Given the description of an element on the screen output the (x, y) to click on. 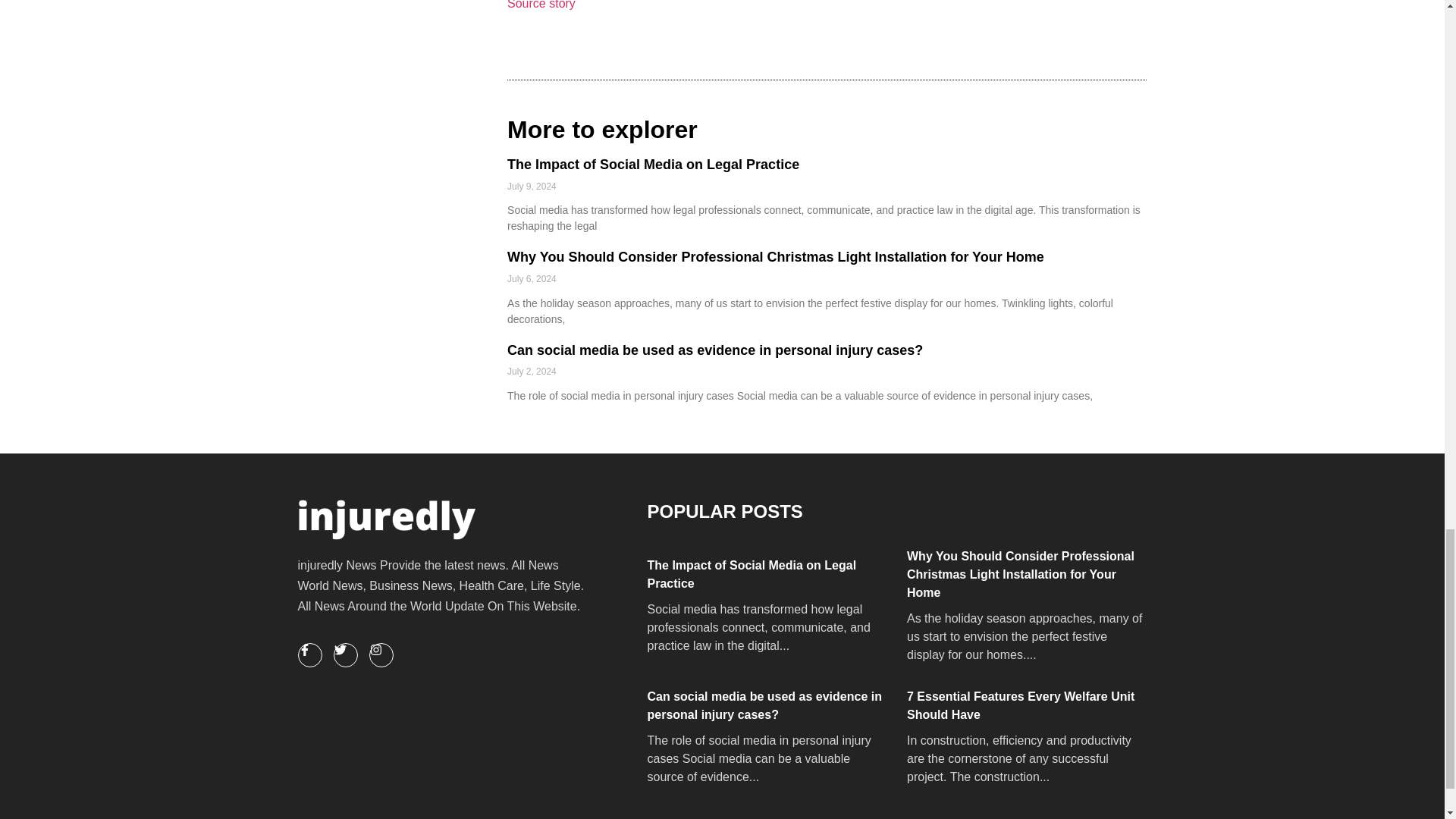
7 Essential Features Every Welfare Unit Should Have (1024, 705)
The Impact of Social Media on Legal Practice (765, 574)
